Given the description of an element on the screen output the (x, y) to click on. 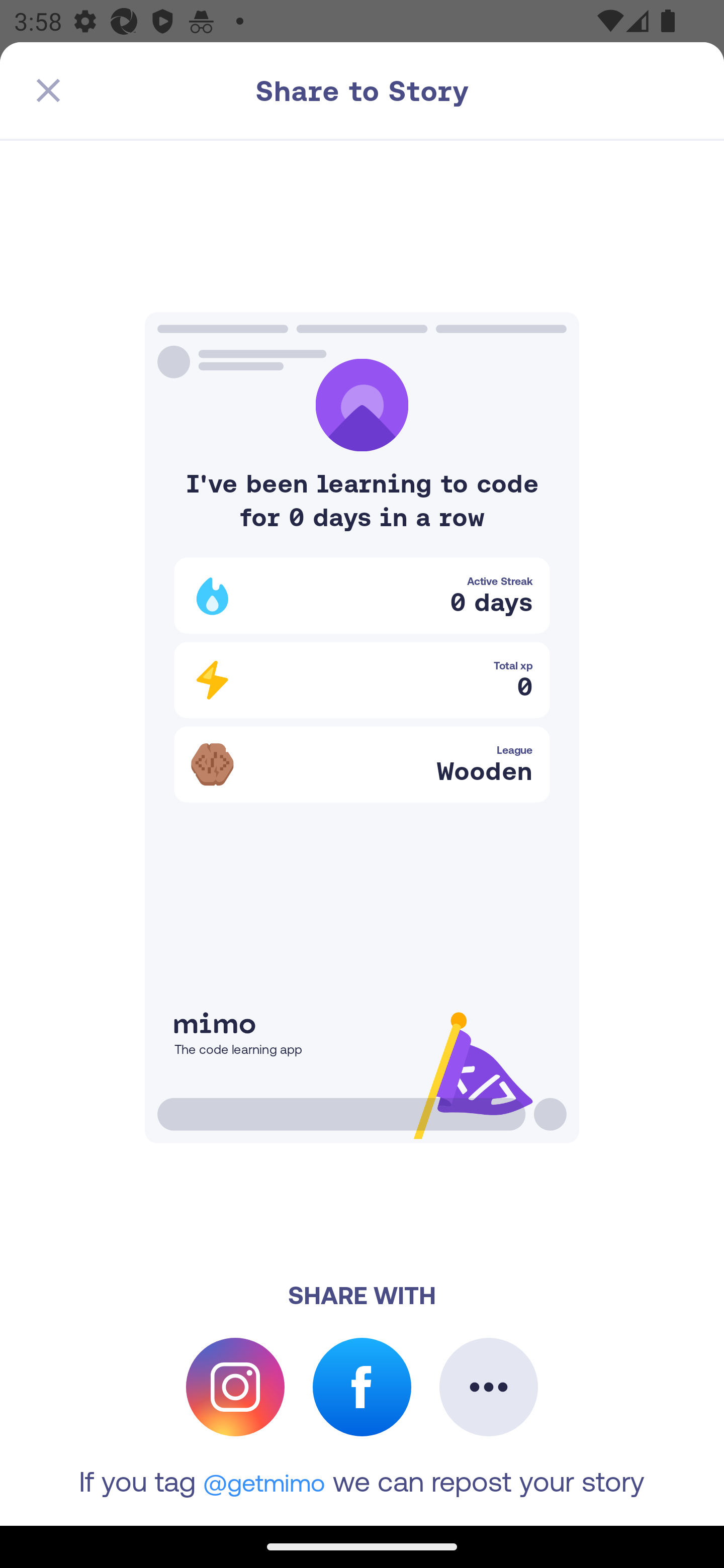
Close (47, 90)
